Given the description of an element on the screen output the (x, y) to click on. 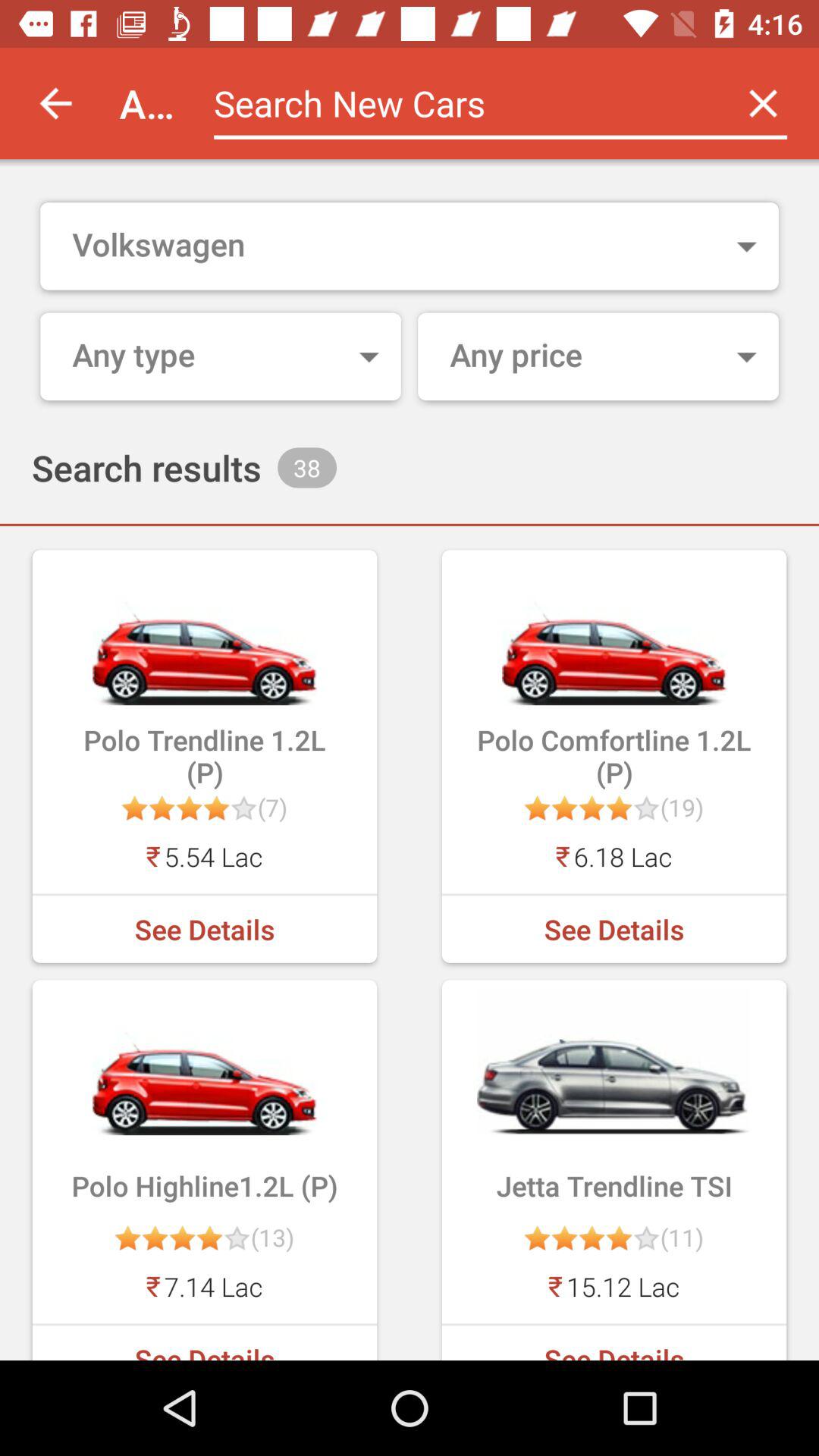
press item to the left of autoportal (55, 103)
